Given the description of an element on the screen output the (x, y) to click on. 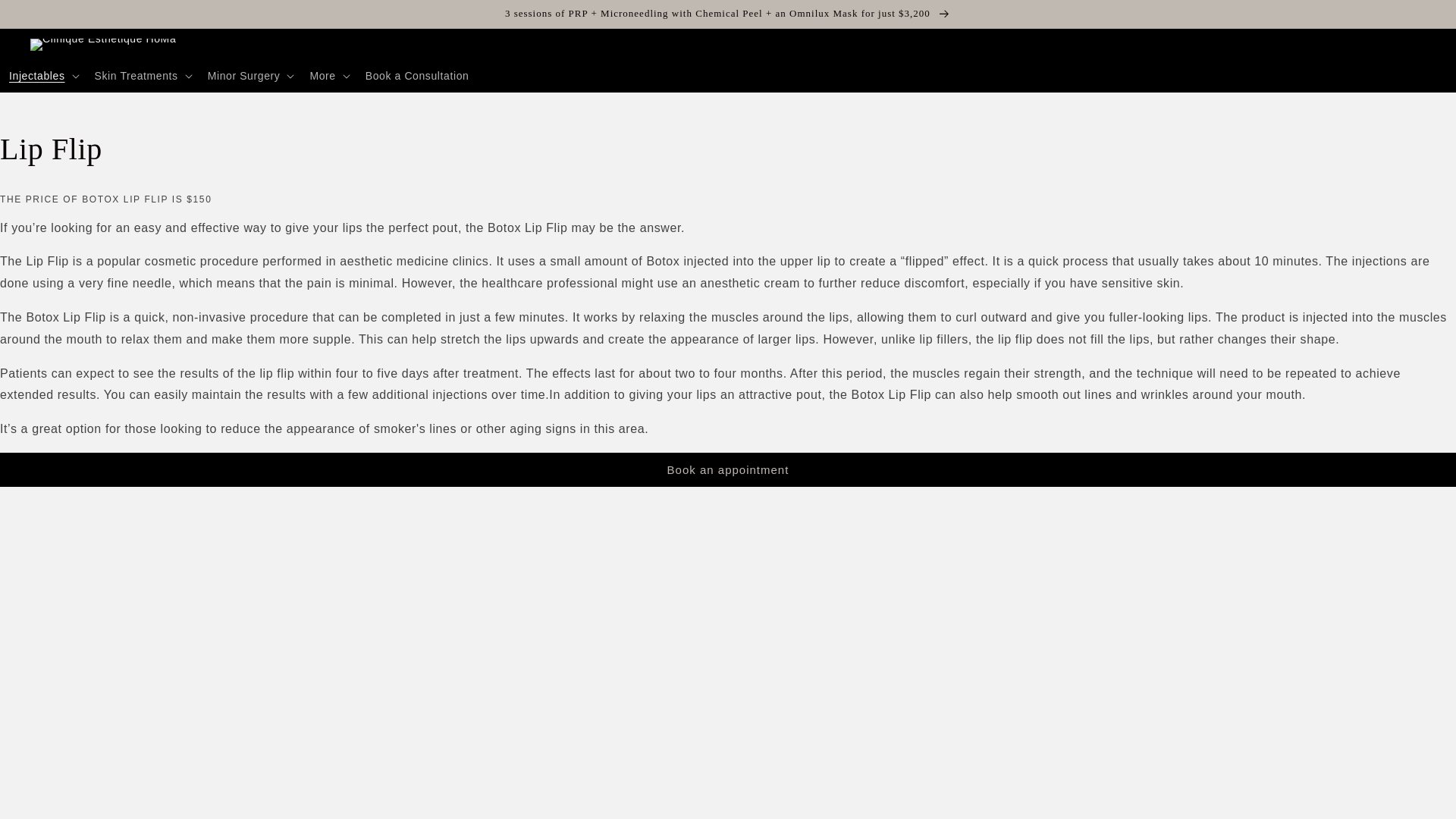
Skip to content (727, 16)
